Given the description of an element on the screen output the (x, y) to click on. 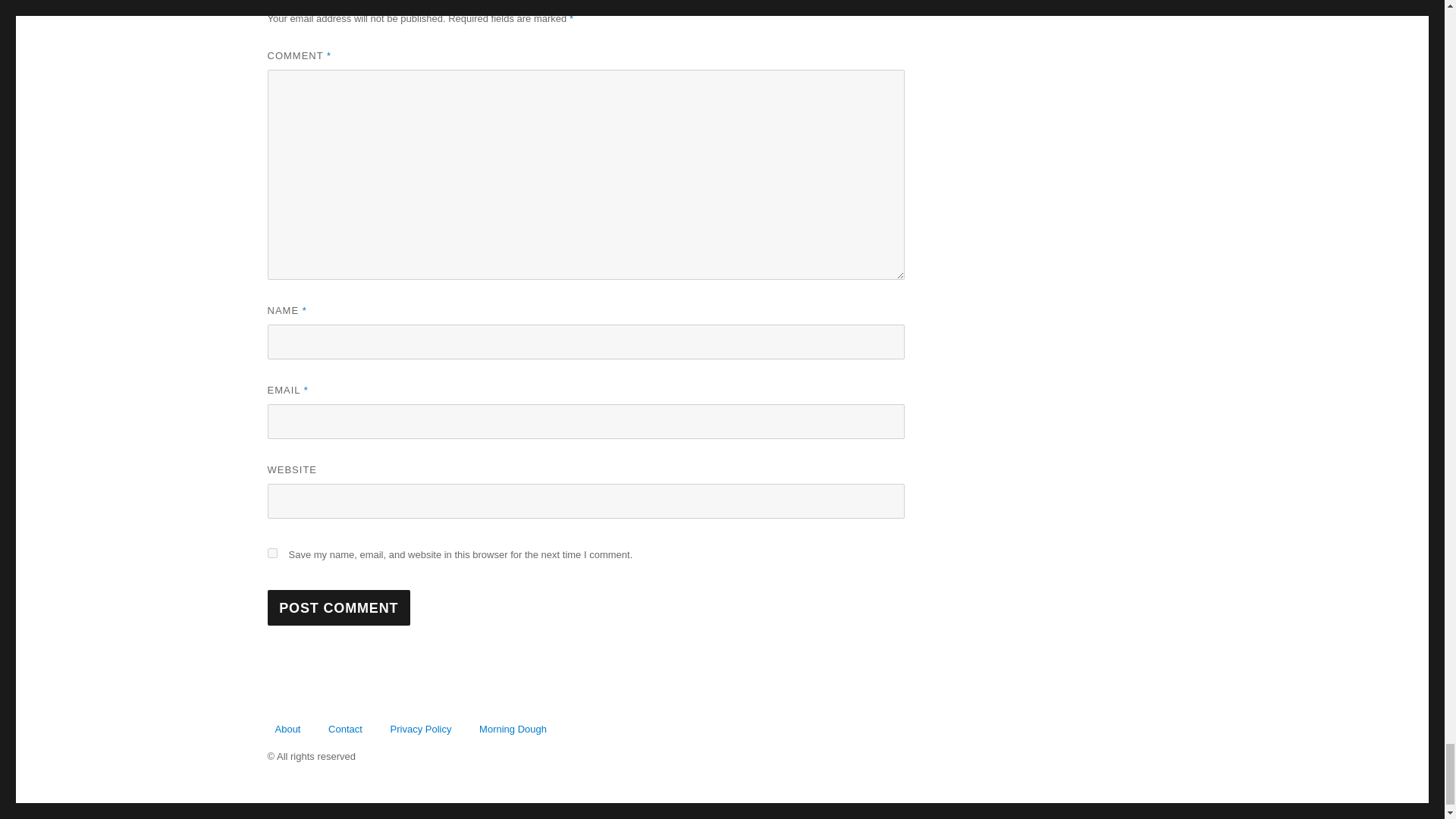
Post Comment (338, 607)
Post Comment (338, 607)
yes (271, 552)
